Given the description of an element on the screen output the (x, y) to click on. 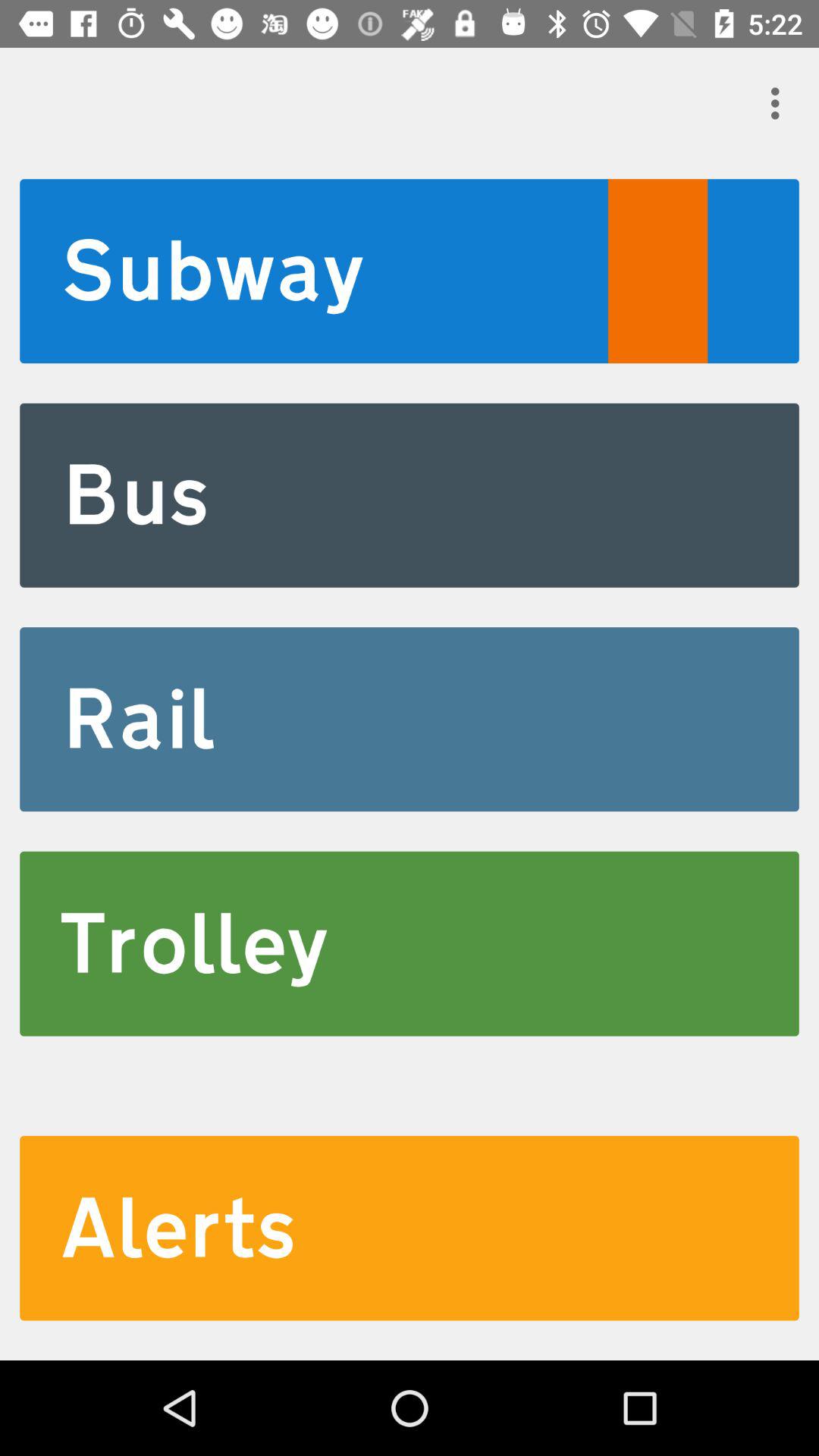
press the subway icon (409, 271)
